Given the description of an element on the screen output the (x, y) to click on. 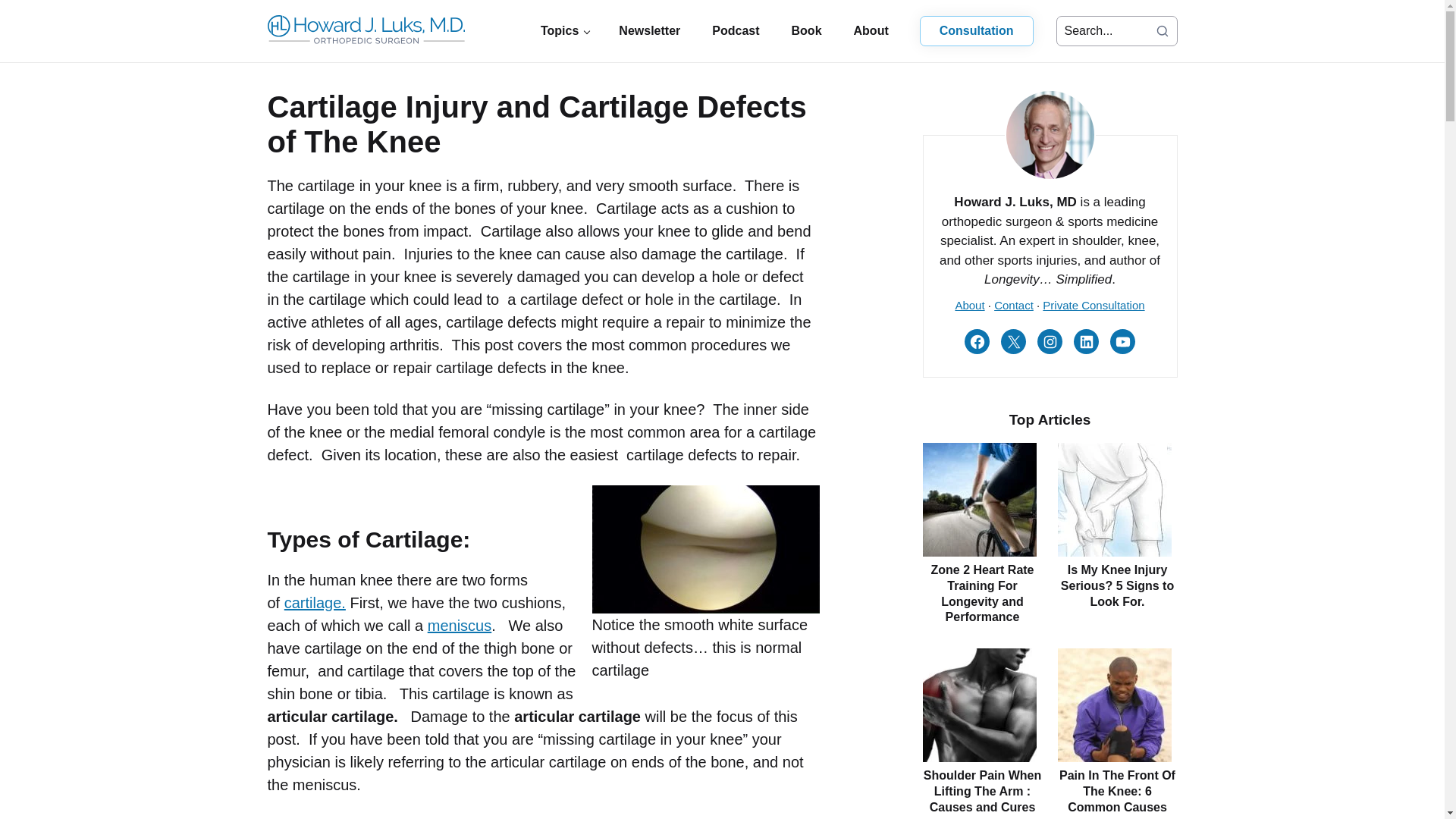
Meniscus Tears or Cartilage Tears (460, 625)
Submit search (1161, 30)
Newsletter (650, 30)
Book (806, 30)
Submit search (1161, 30)
Submit search (1161, 30)
Consultation (976, 30)
About (871, 30)
Podcast (735, 30)
cartilage. (314, 602)
Topics (563, 30)
meniscus (460, 625)
